Given the description of an element on the screen output the (x, y) to click on. 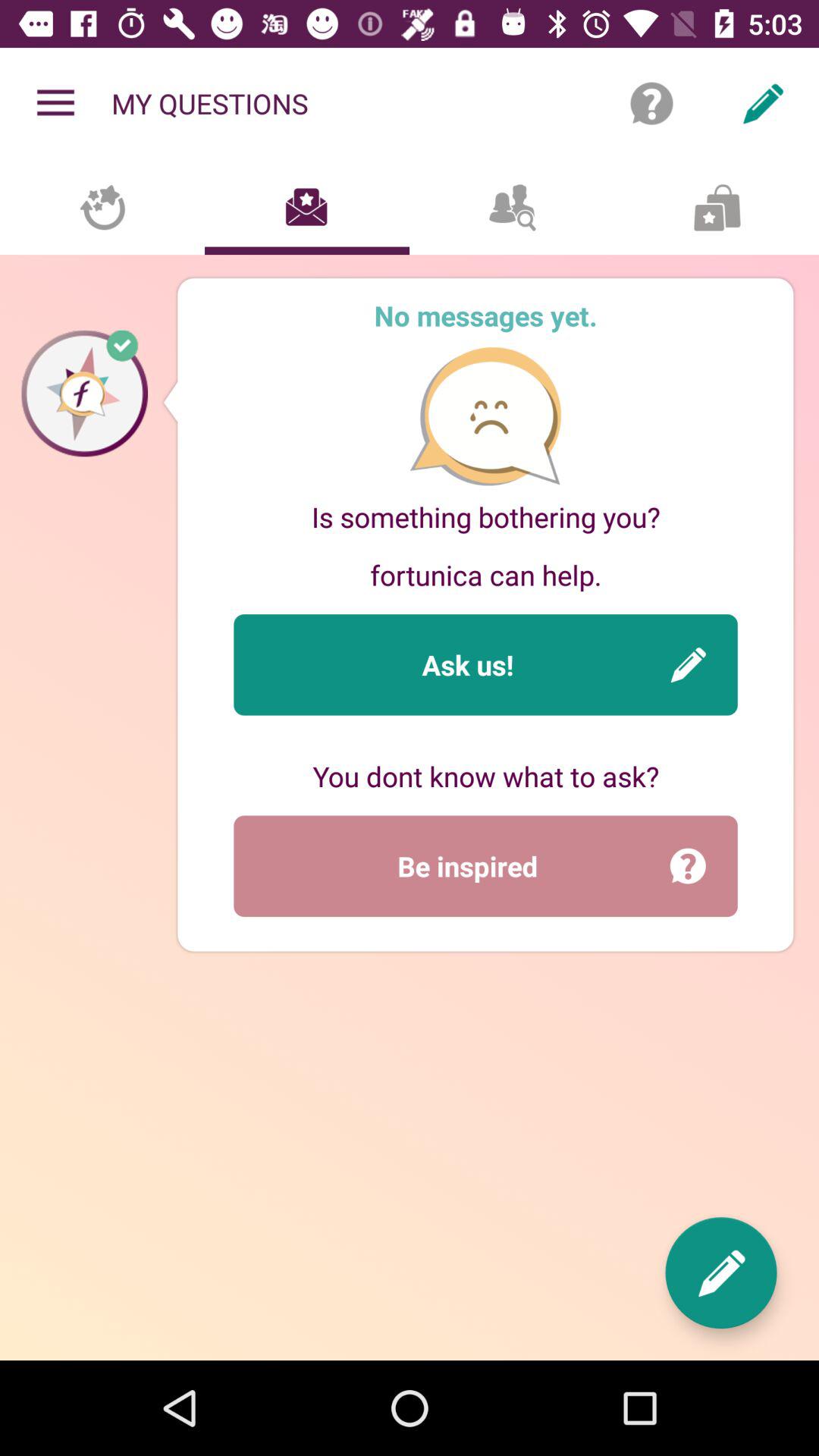
press the item to the left of the my questions icon (55, 103)
